Given the description of an element on the screen output the (x, y) to click on. 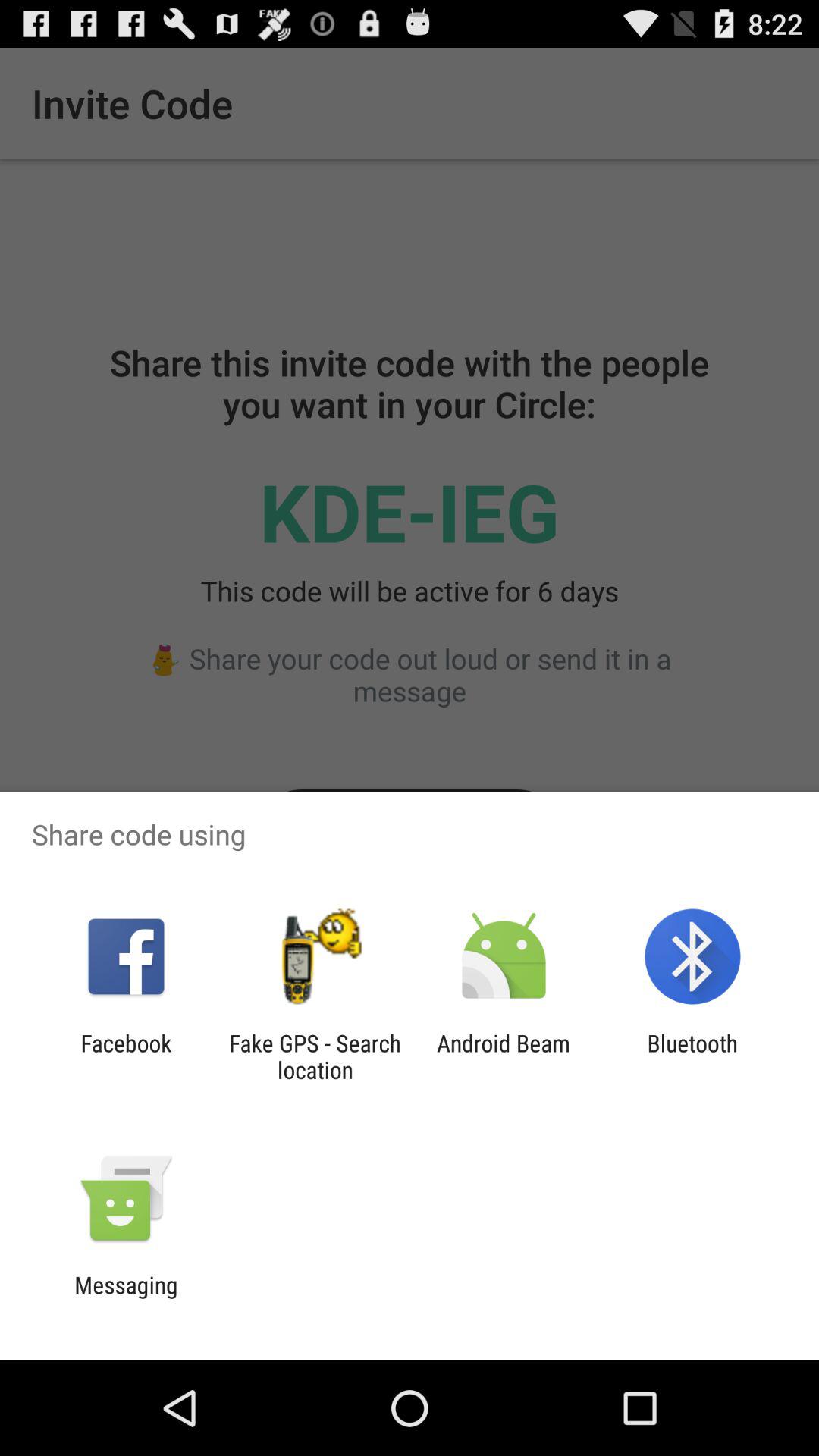
launch the item next to the bluetooth app (503, 1056)
